Given the description of an element on the screen output the (x, y) to click on. 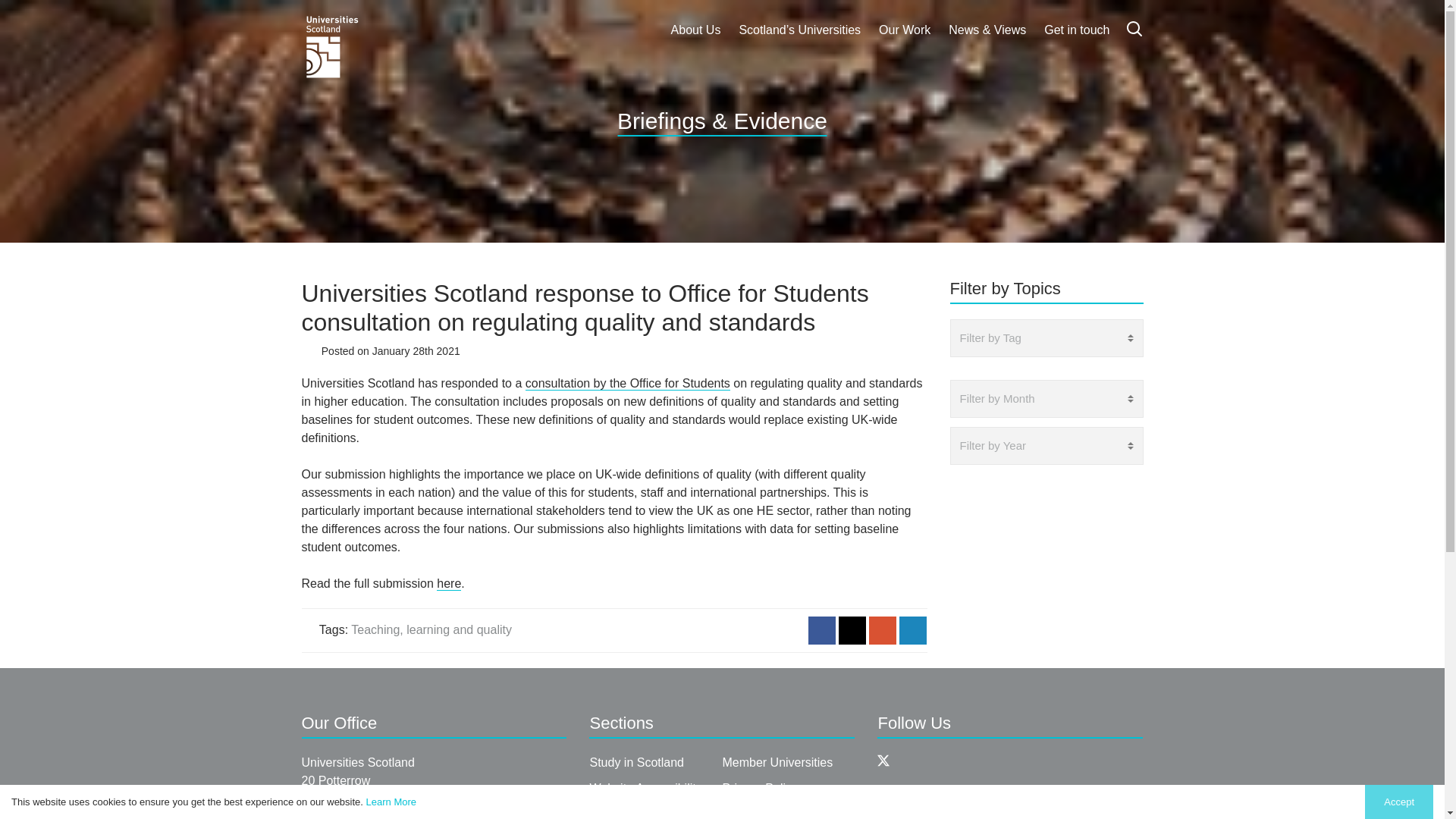
About Us (696, 30)
Get in touch (1076, 30)
Our Work (904, 30)
Search (1133, 28)
